Given the description of an element on the screen output the (x, y) to click on. 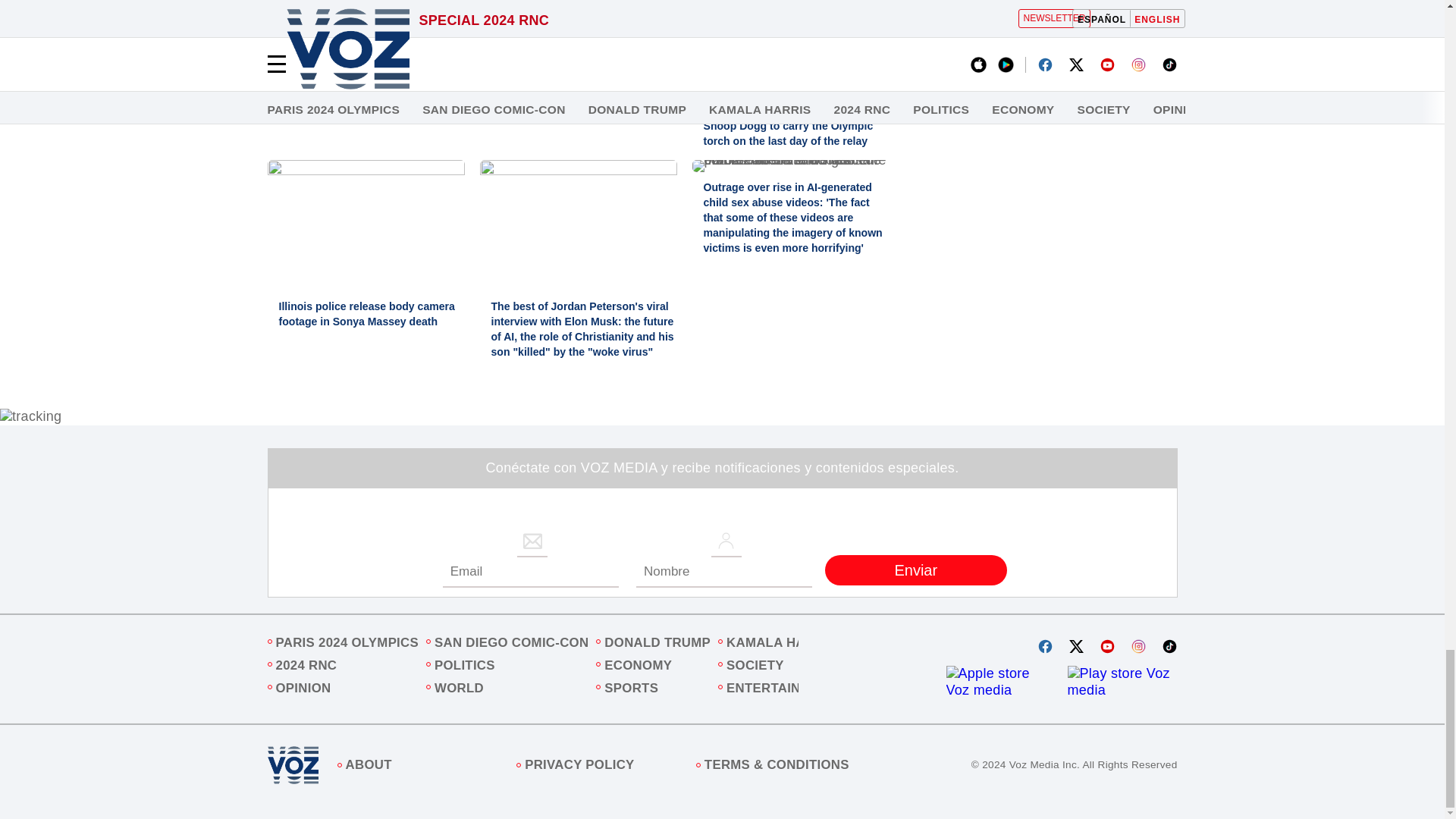
Enviar (916, 570)
